Given the description of an element on the screen output the (x, y) to click on. 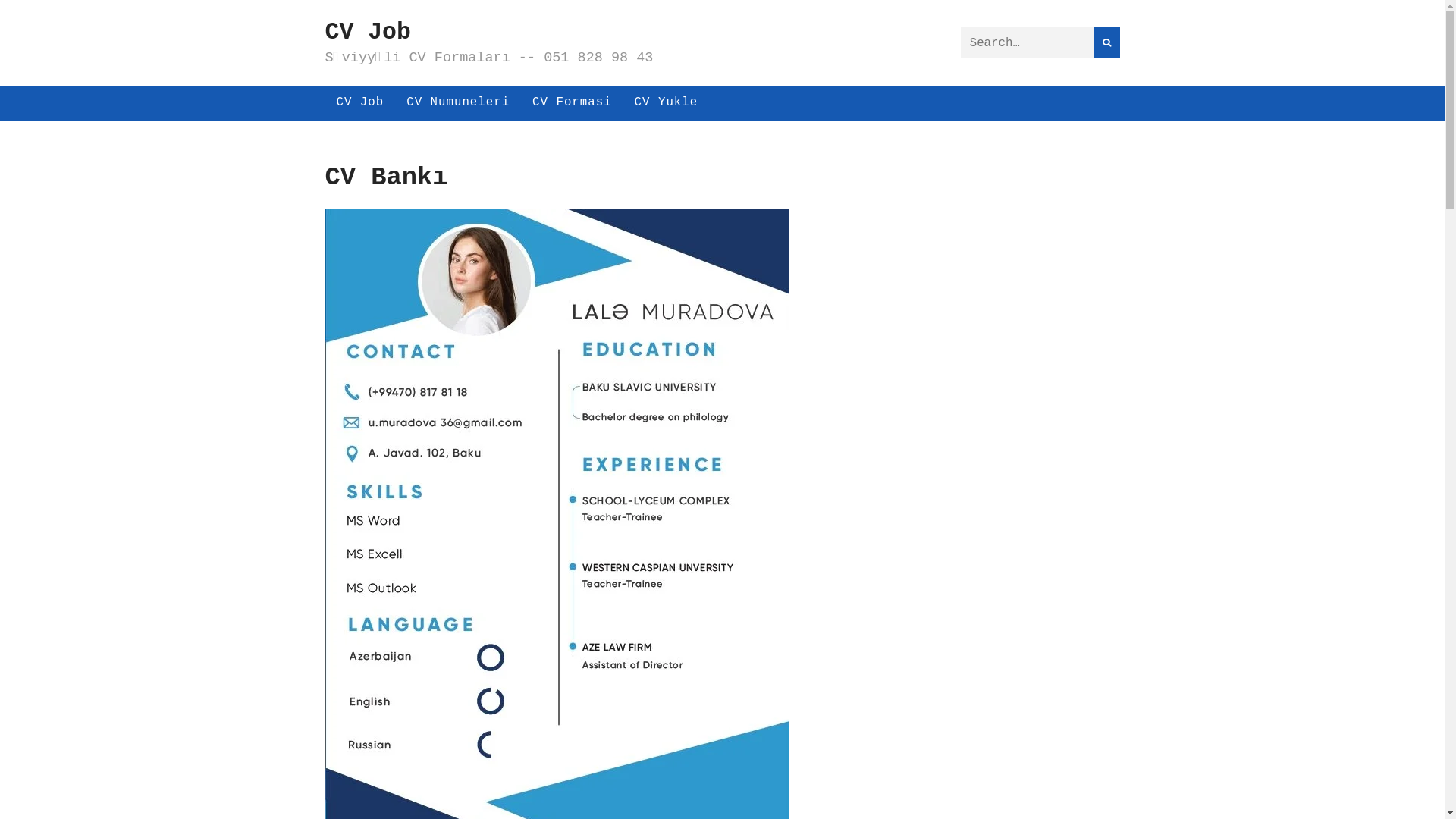
CV Job Element type: text (359, 102)
CV Numuneleri Element type: text (457, 102)
CV Formasi Element type: text (571, 102)
CV Yukle Element type: text (666, 102)
